Given the description of an element on the screen output the (x, y) to click on. 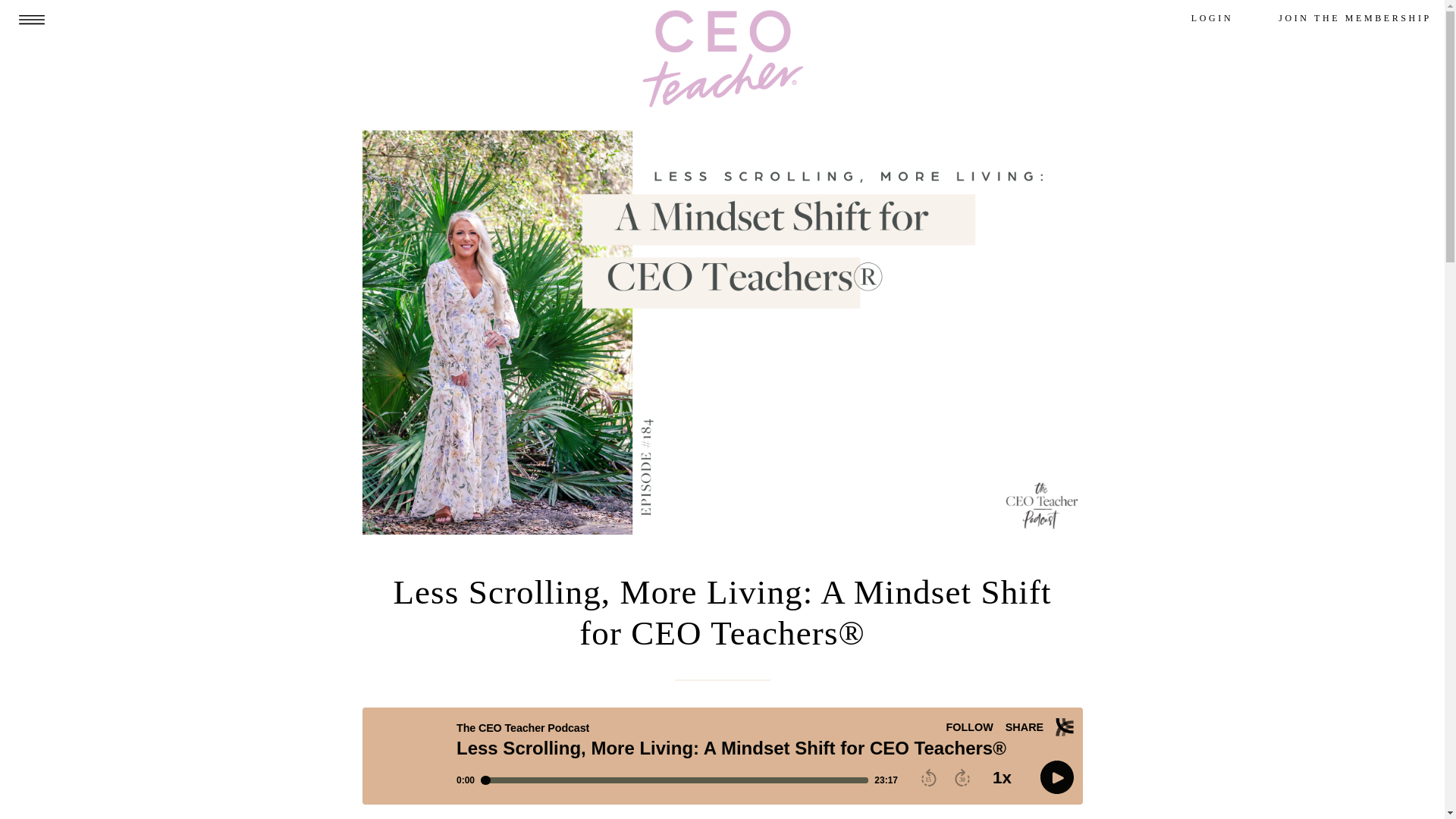
LOGIN (1211, 19)
JOIN THE MEMBERSHIP (1354, 19)
JOIN THE MEMBERSHIP (1354, 19)
LOGIN (1211, 19)
JOIN THE MEMBERSHIP (1354, 19)
Embed Player (722, 755)
LOGIN (1211, 19)
